Given the description of an element on the screen output the (x, y) to click on. 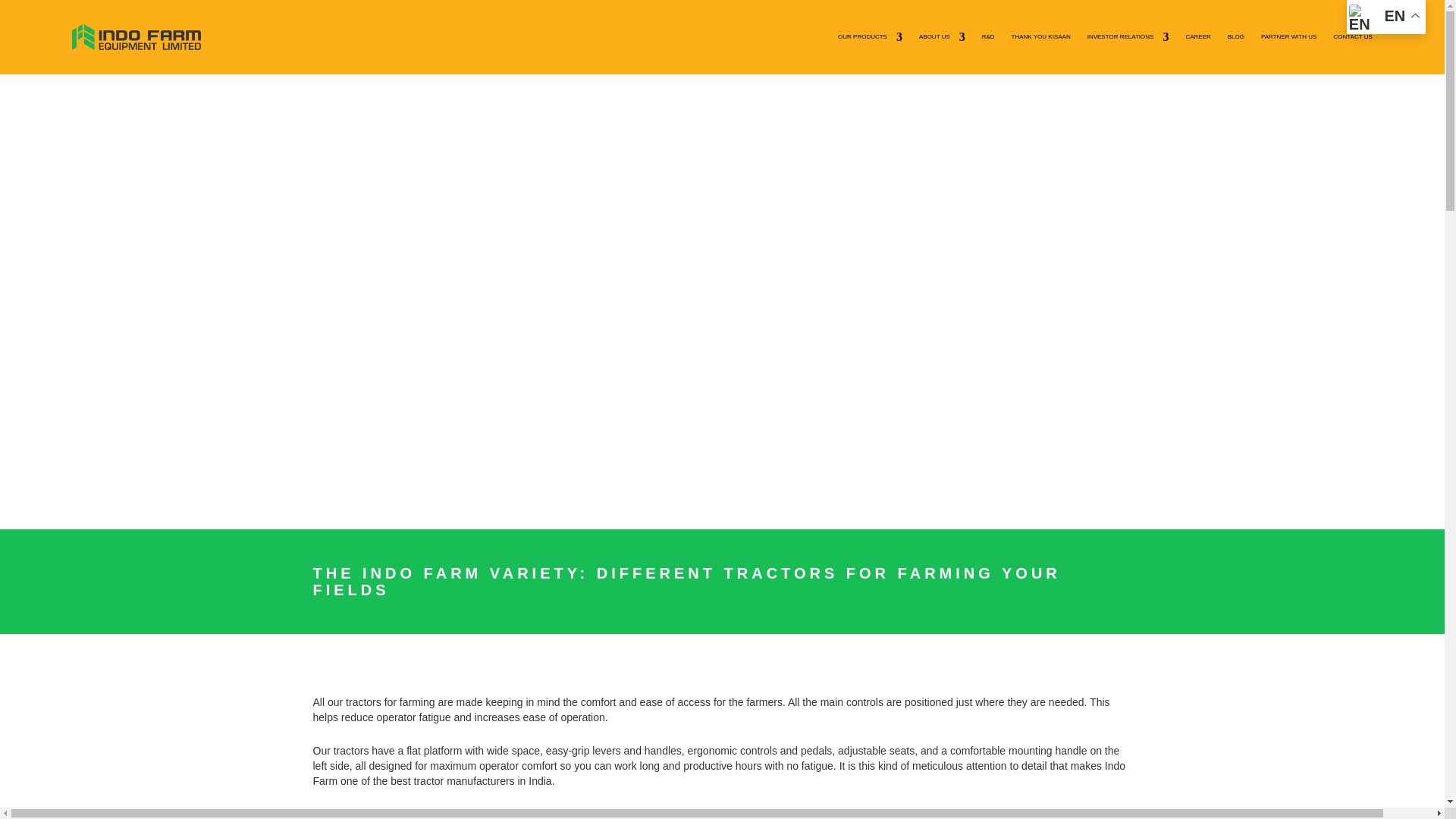
OUR PRODUCTS (870, 36)
PARTNER WITH US (1288, 36)
THANK YOU KISAAN (1040, 36)
INVESTOR RELATIONS (1128, 36)
